Given the description of an element on the screen output the (x, y) to click on. 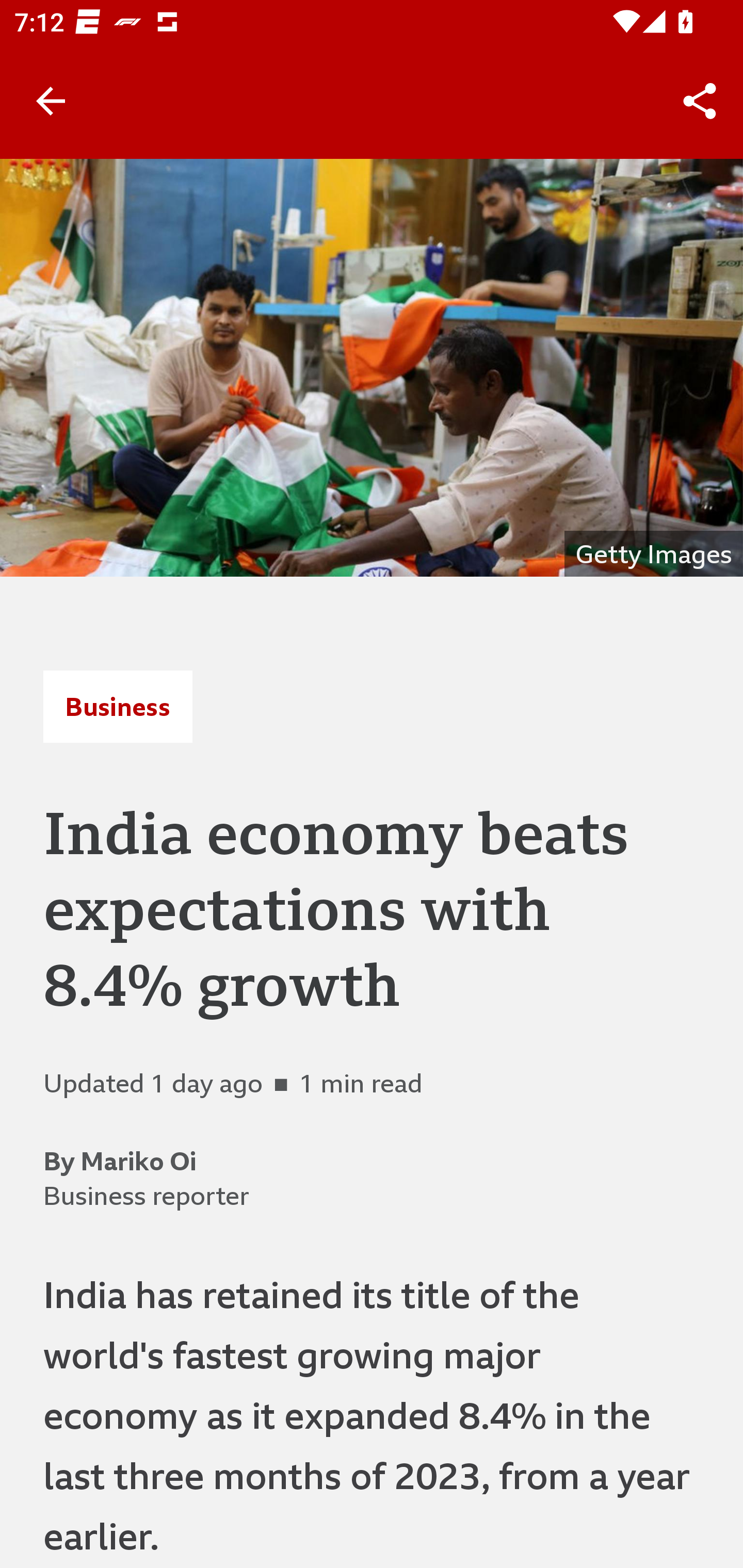
Back (50, 101)
Share (699, 101)
Business (117, 706)
